Given the description of an element on the screen output the (x, y) to click on. 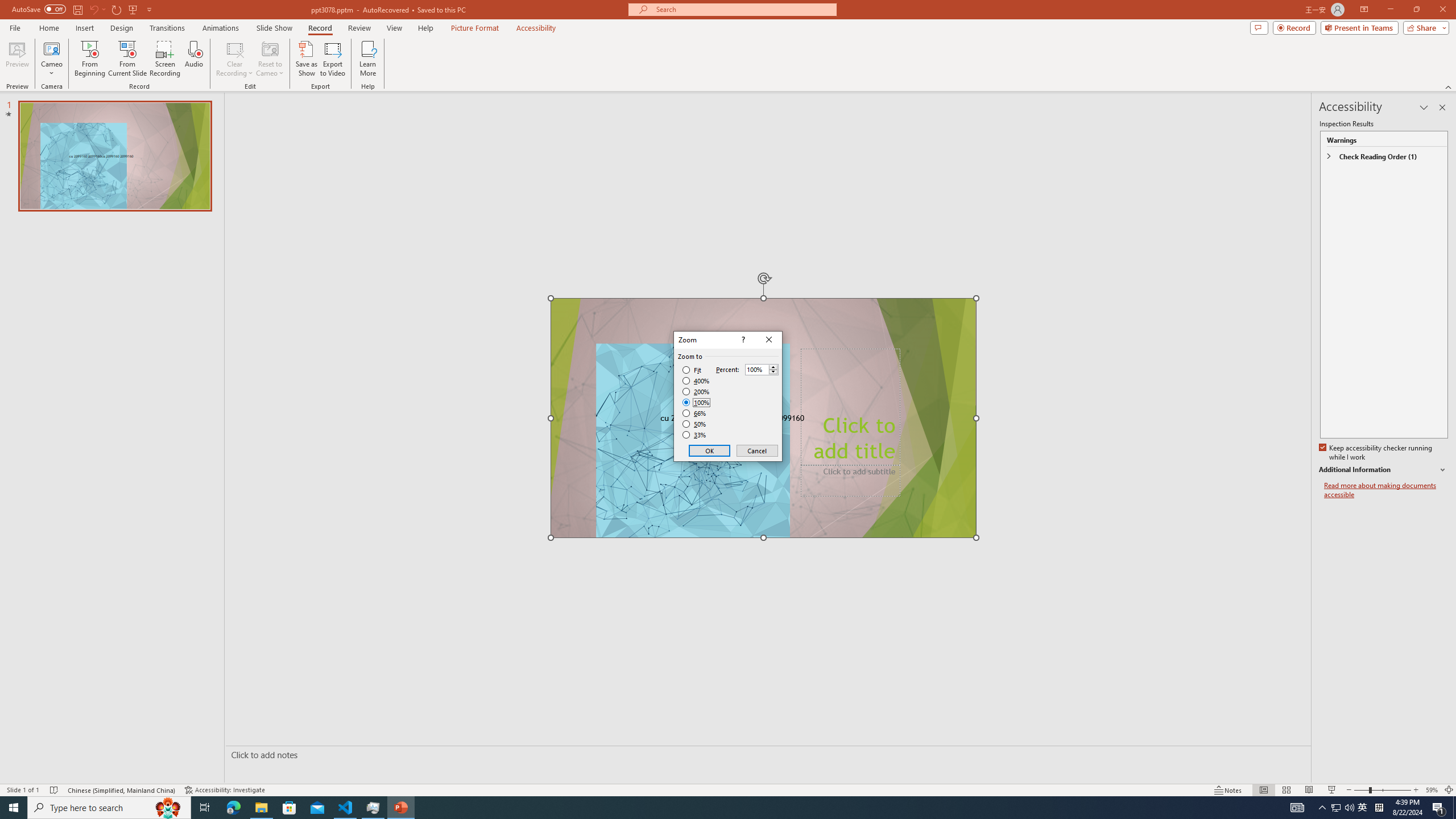
Percent (761, 369)
